Given the description of an element on the screen output the (x, y) to click on. 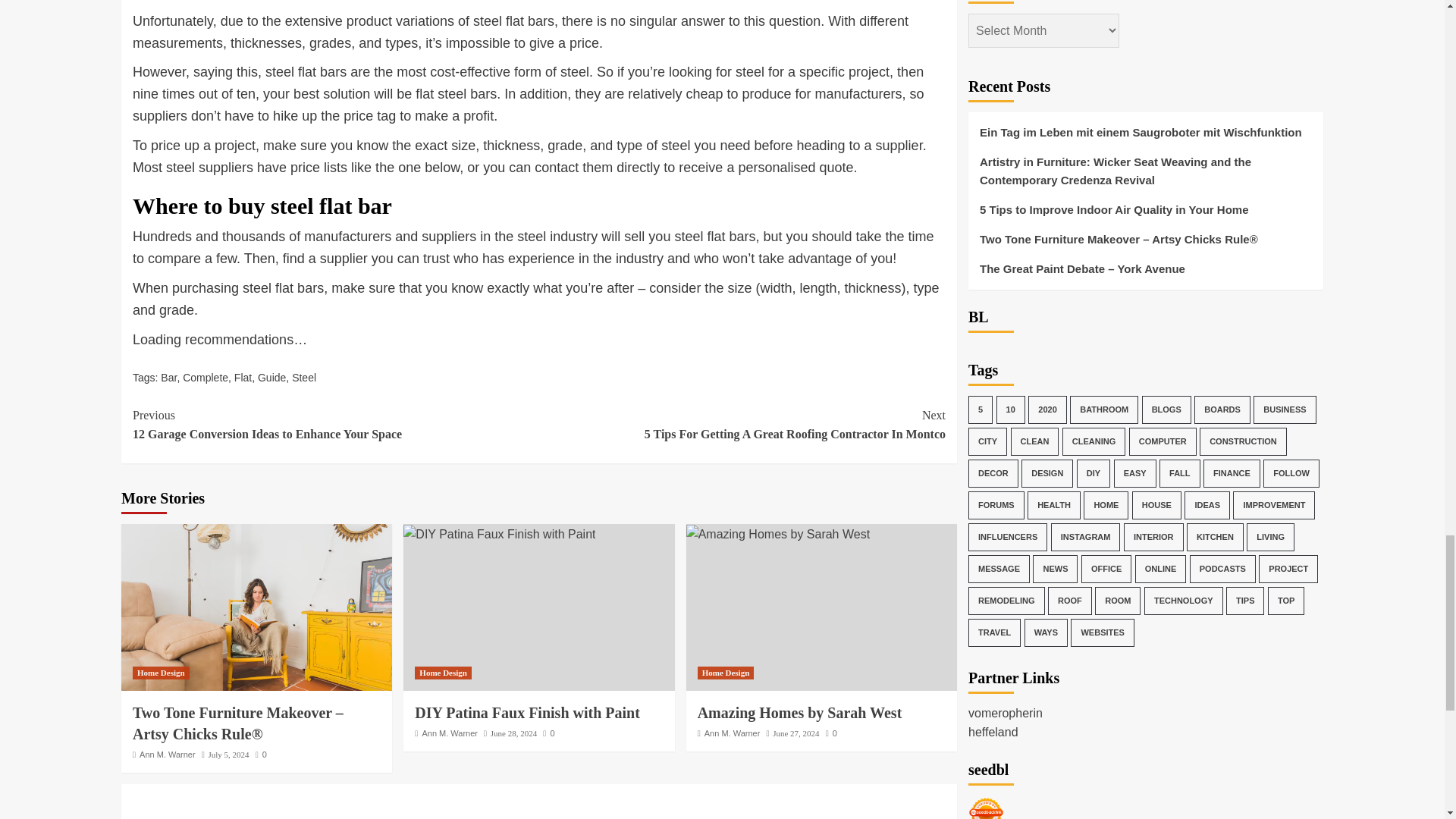
Complete (205, 377)
Bar (335, 424)
Steel (168, 377)
Flat (303, 377)
DIY Patina Faux Finish with Paint (242, 377)
Amazing Homes by Sarah West (499, 534)
Guide (777, 534)
